Given the description of an element on the screen output the (x, y) to click on. 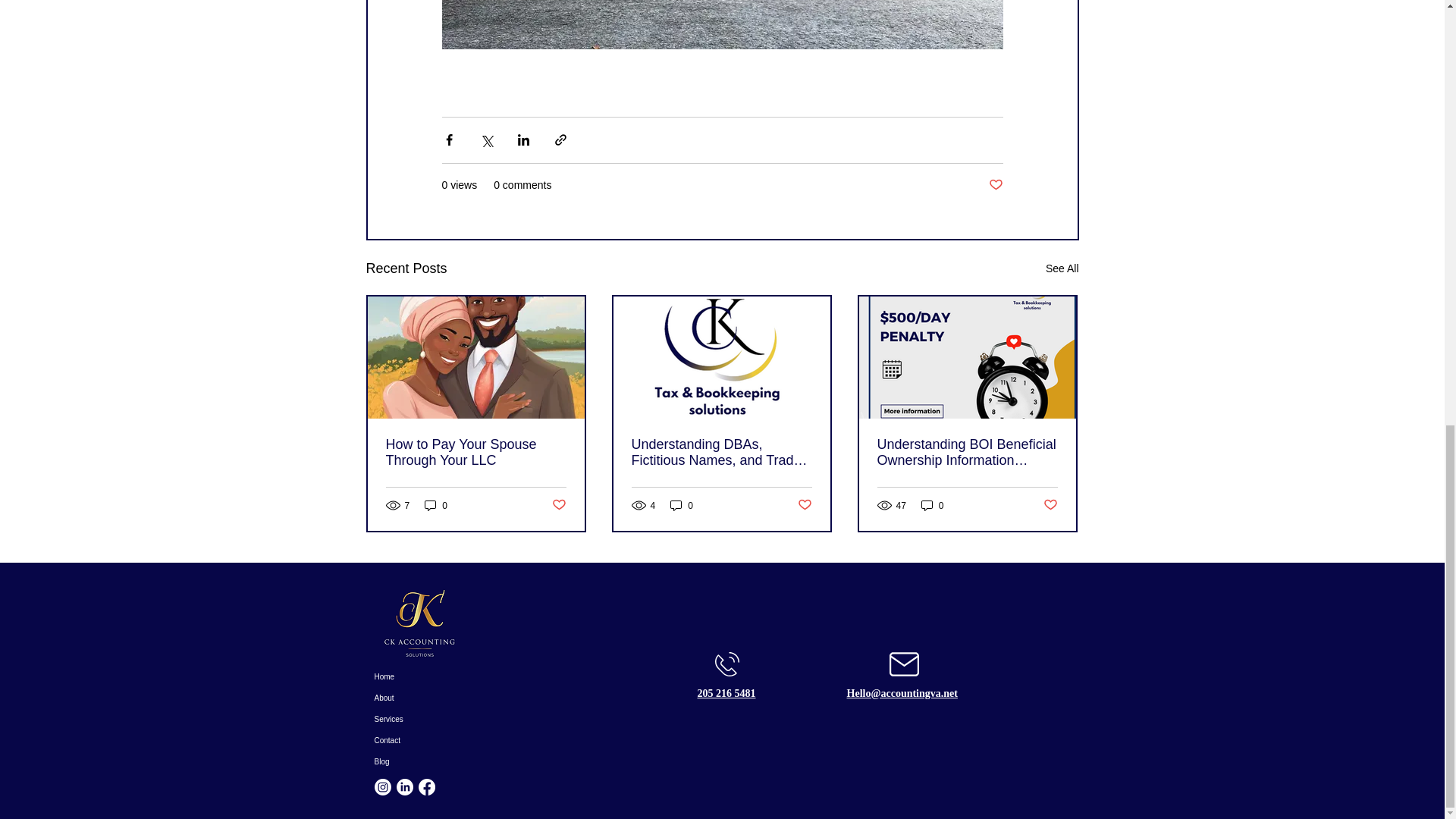
How to Pay Your Spouse Through Your LLC (475, 452)
Post not marked as liked (558, 505)
Post not marked as liked (804, 505)
Post not marked as liked (1050, 505)
0 (435, 504)
Post not marked as liked (995, 185)
Home (427, 676)
Understanding BOI Beneficial Ownership Information Reporting (966, 452)
0 (681, 504)
